Given the description of an element on the screen output the (x, y) to click on. 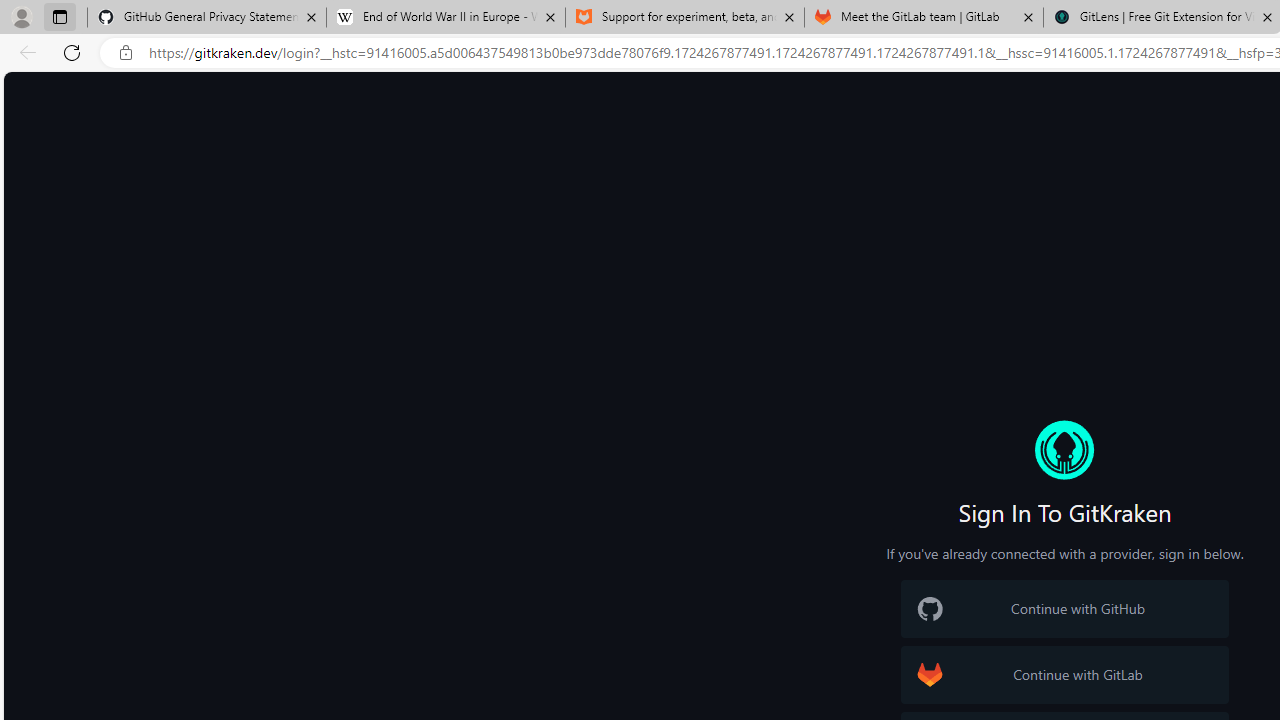
End of World War II in Europe - Wikipedia (445, 17)
GitLab Logo (929, 674)
GitKraken (1064, 449)
GitHub General Privacy Statement - GitHub Docs (207, 17)
GitHub Logo (929, 609)
Meet the GitLab team | GitLab (924, 17)
GitHub Logo Continue with GitHub (1064, 608)
GitLab Logo Continue with GitLab (1064, 674)
